Given the description of an element on the screen output the (x, y) to click on. 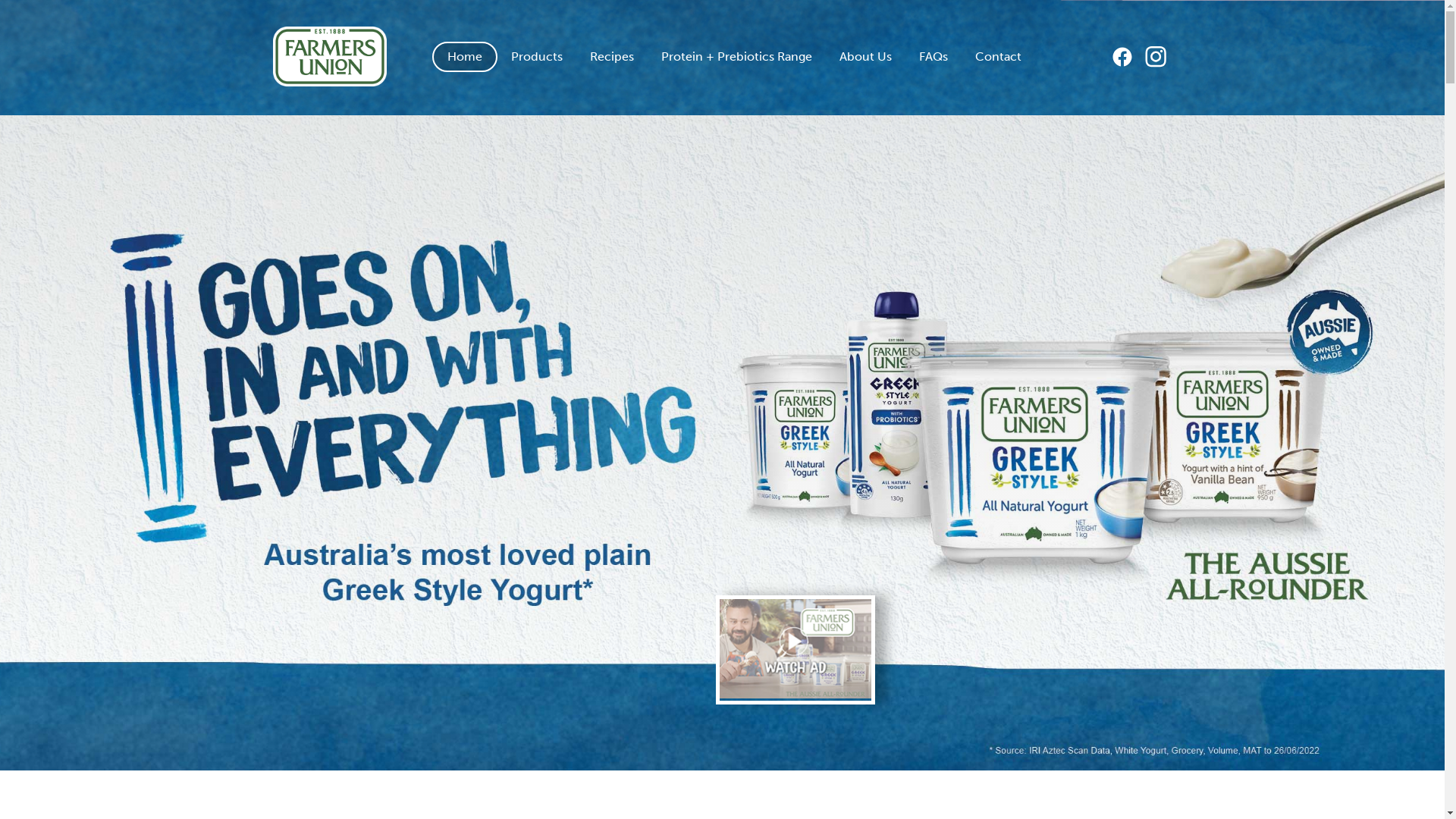
About Us Element type: text (865, 56)
FAQs Element type: text (933, 56)
Protein + Prebiotics Range Element type: text (736, 56)
Home Element type: text (464, 56)
Recipes Element type: text (611, 56)
Contact Element type: text (998, 56)
Products Element type: text (536, 56)
